Given the description of an element on the screen output the (x, y) to click on. 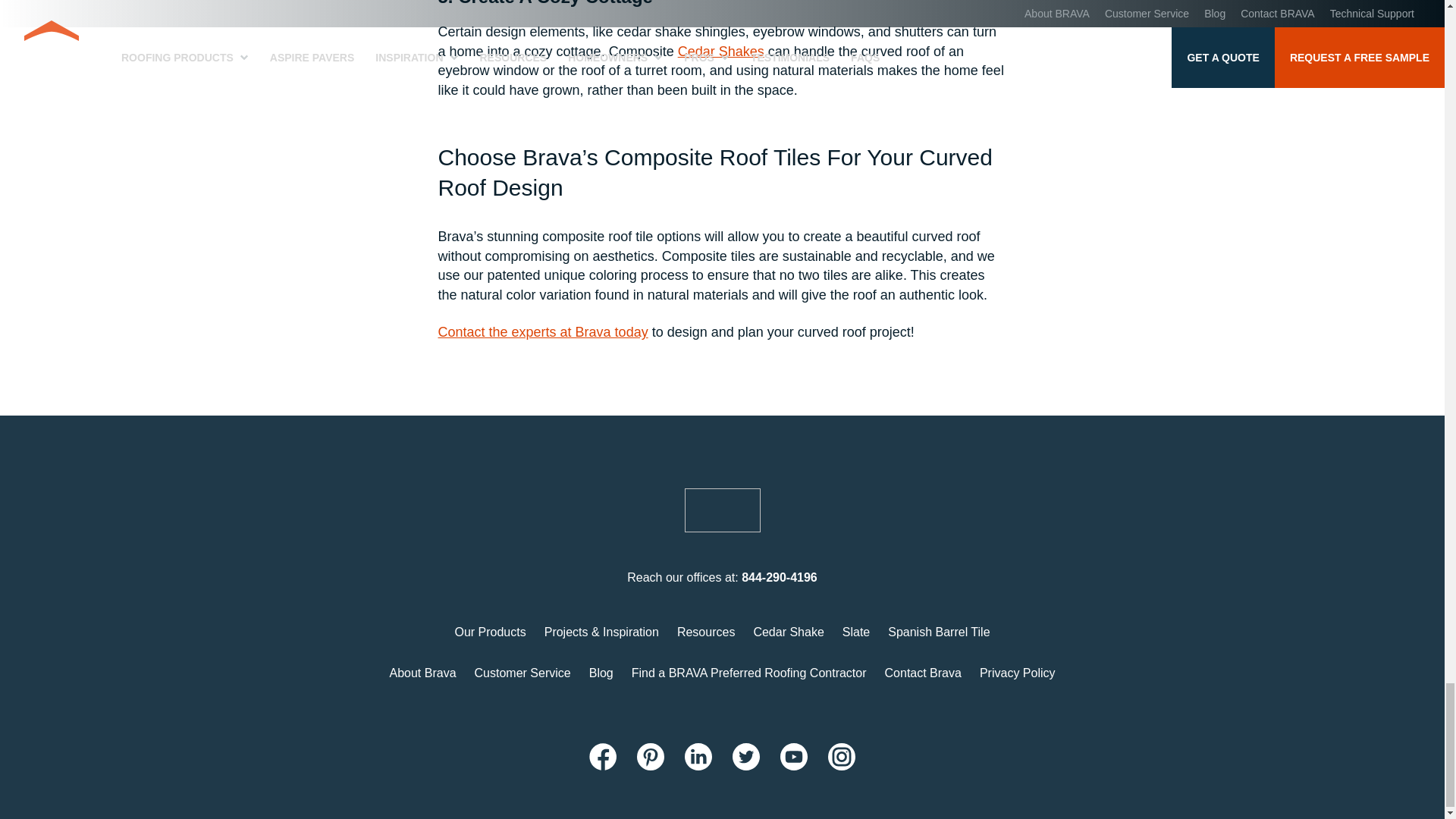
Visit Brava Roof Tile on Facebook (602, 756)
Visit Brava Roof Tile on Pinterest (650, 756)
Visit Brava Roof Tile on Instagram (842, 756)
Visit Brava Roof Tile on Twitter (746, 756)
Visit Brava Roof Tile on YouTube (794, 756)
Visit Brava Roof Tile on LinkedIn (697, 756)
